Given the description of an element on the screen output the (x, y) to click on. 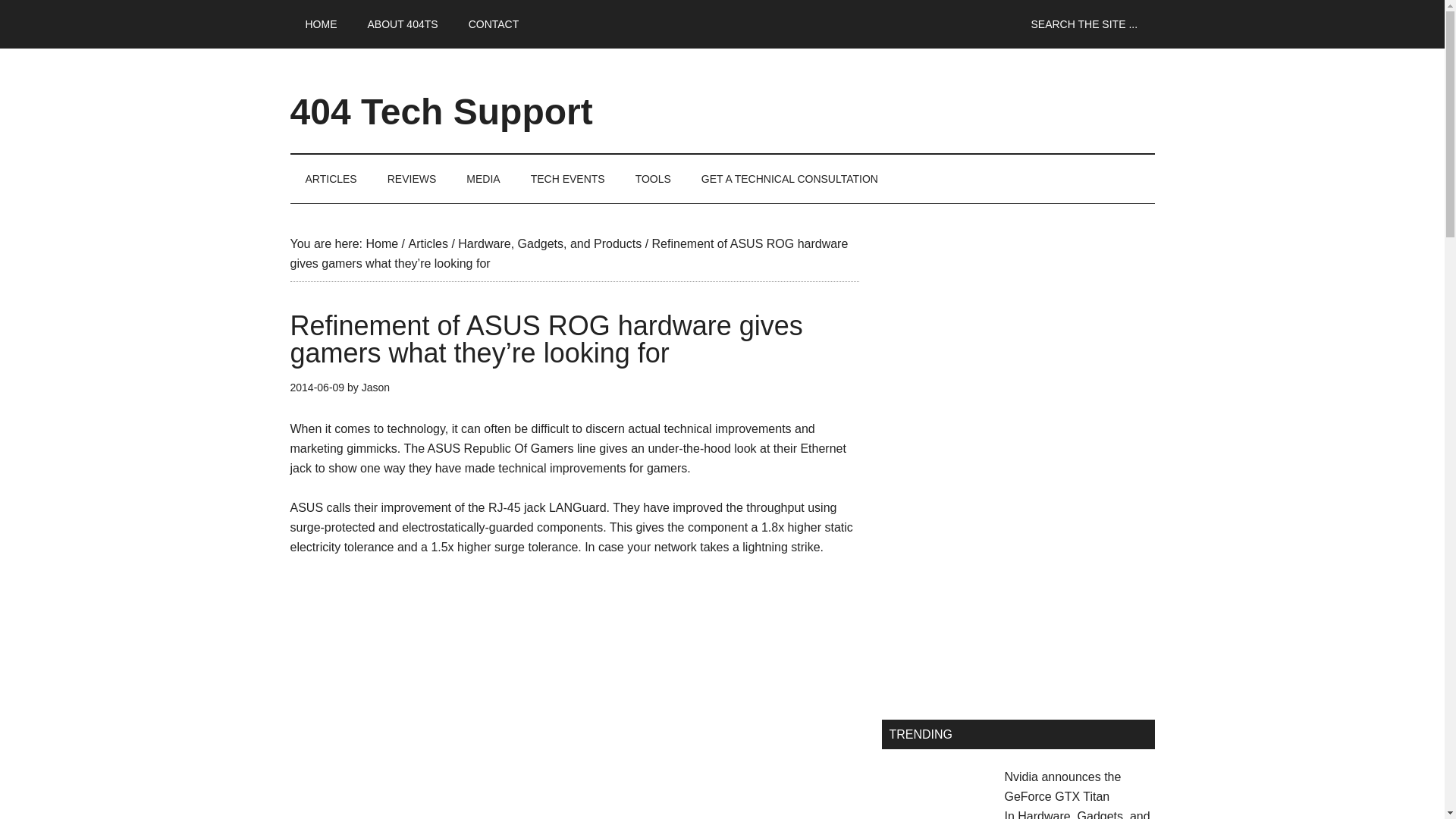
HOME (320, 24)
Advertisement (1017, 582)
Home (381, 243)
Articles (426, 243)
Nvidia announces the GeForce GTX Titan (1062, 786)
Jason (375, 387)
MEDIA (483, 178)
Advertisement (573, 722)
TECH EVENTS (567, 178)
